Given the description of an element on the screen output the (x, y) to click on. 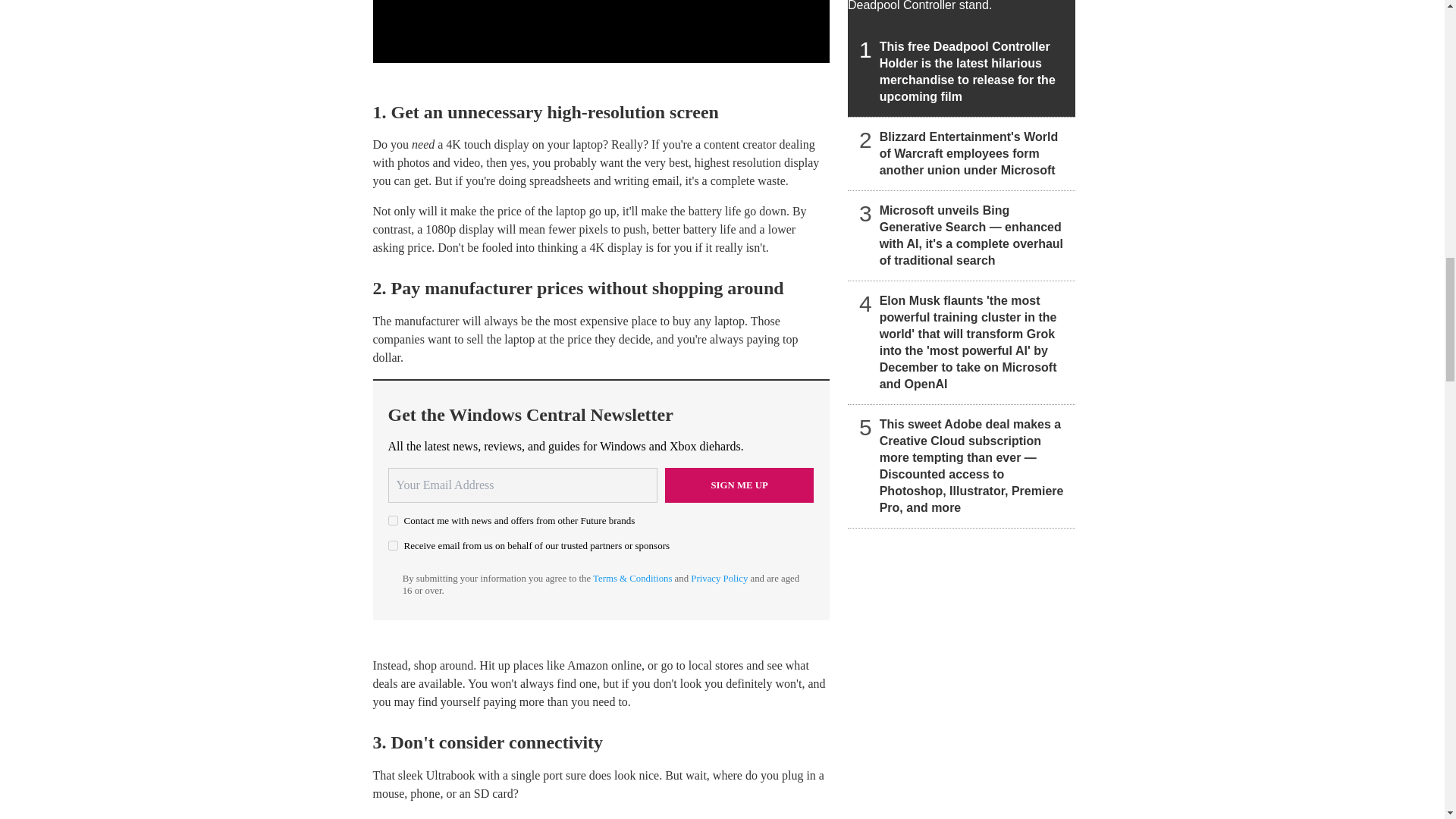
Sign me up (739, 484)
on (392, 545)
Privacy Policy (719, 578)
Sign me up (739, 484)
on (392, 520)
